Given the description of an element on the screen output the (x, y) to click on. 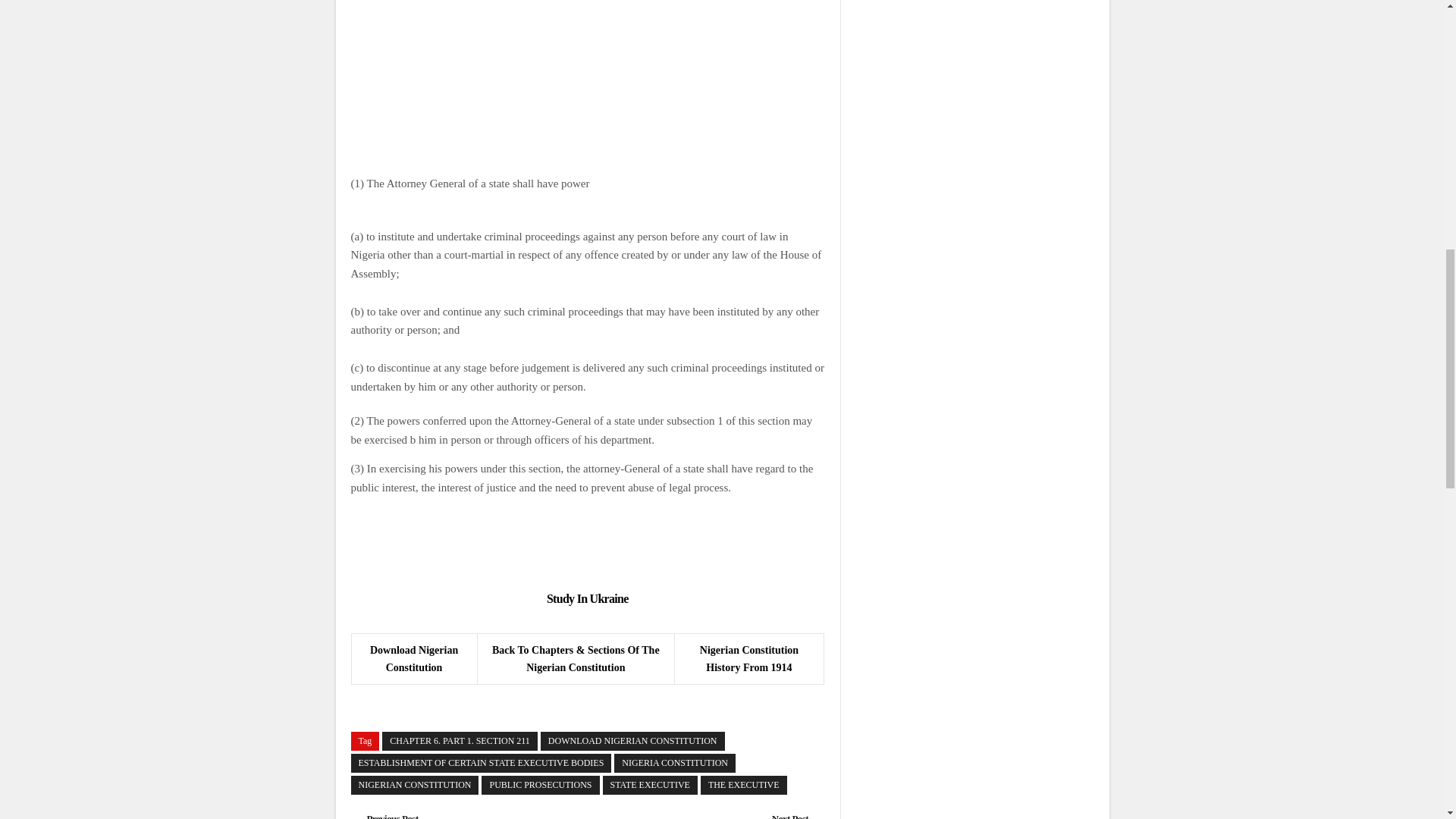
DOWNLOAD NIGERIAN CONSTITUTION (632, 741)
Nigerian Constitution History From 1914 (748, 658)
CHAPTER 6. PART 1. SECTION 211 (459, 741)
NIGERIA CONSTITUTION (674, 763)
Study In Ukraine (587, 598)
STATE EXECUTIVE (649, 784)
NIGERIAN CONSTITUTION (414, 784)
PUBLIC PROSECUTIONS (539, 784)
Study in Ukraine (587, 598)
